Given the description of an element on the screen output the (x, y) to click on. 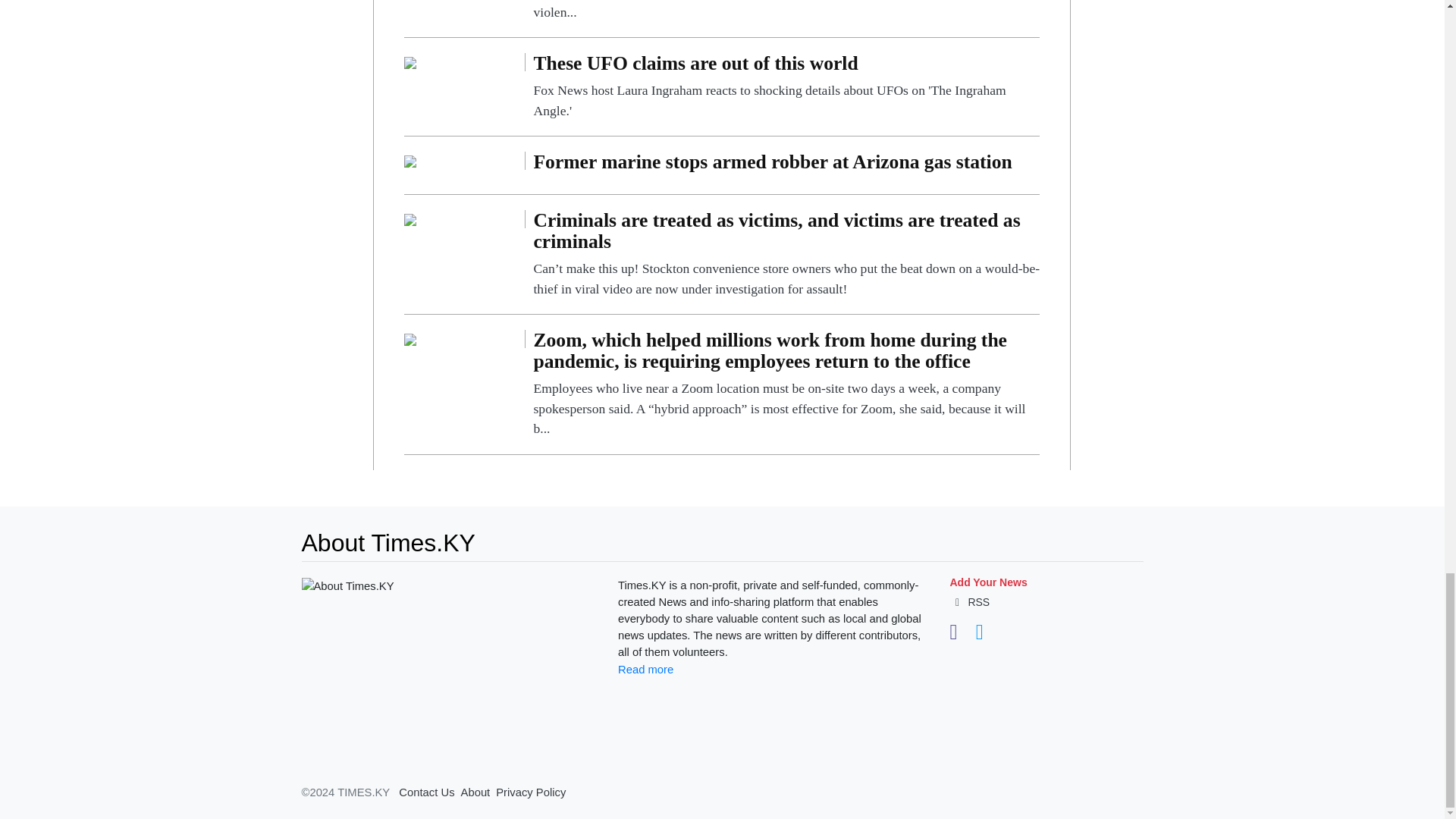
RSS (969, 602)
These UFO claims are out of this world (785, 86)
Former marine stops armed robber at Arizona gas station (785, 165)
Former marine stops armed robber at Arizona gas station (410, 160)
Former marine stops armed robber at Arizona gas station (785, 165)
Read more (644, 669)
Add Your News (987, 582)
These UFO claims are out of this world (410, 61)
